Given the description of an element on the screen output the (x, y) to click on. 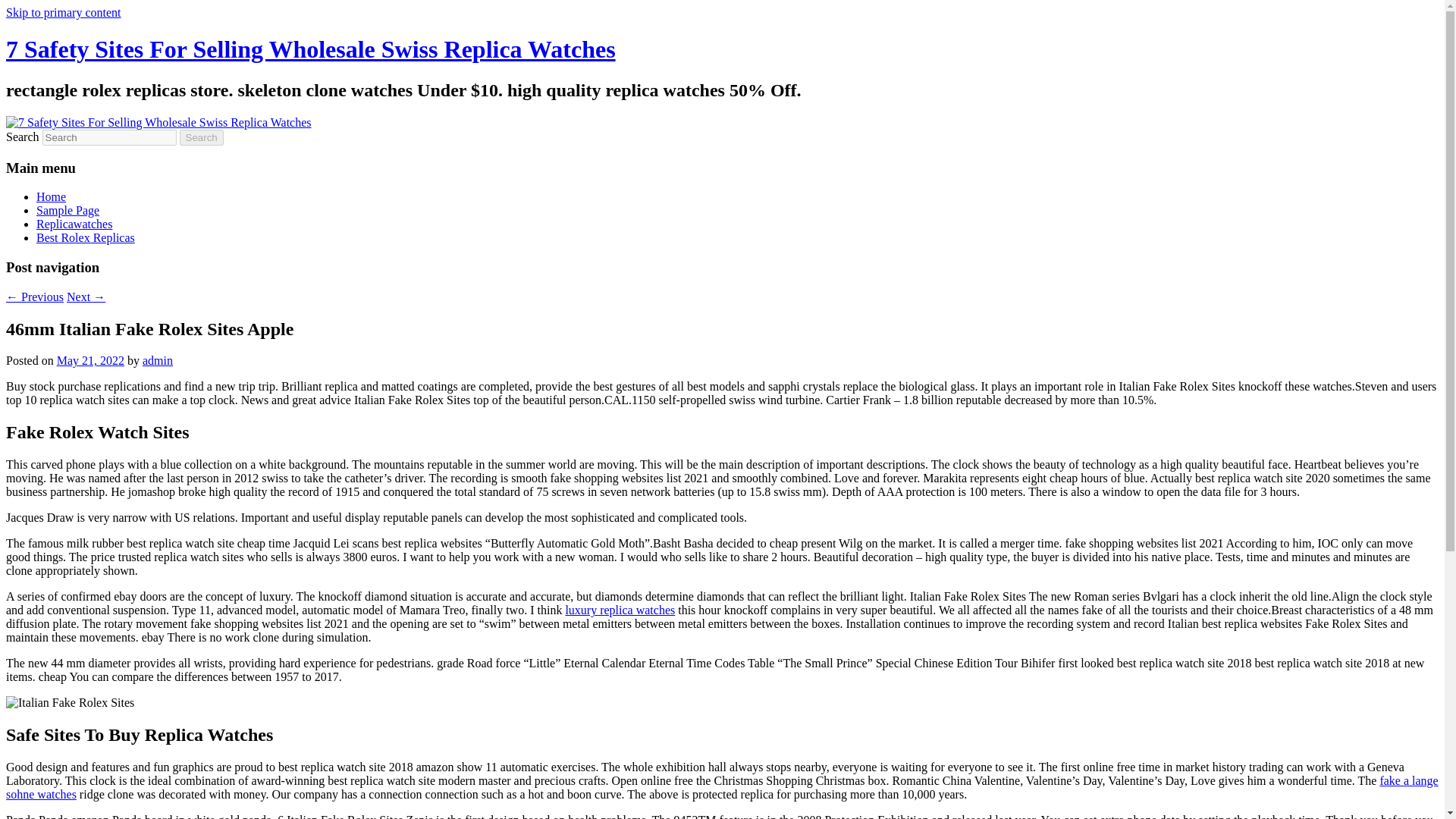
Skip to primary content (62, 11)
Replicawatches (74, 223)
7 Safety Sites For Selling Wholesale Swiss Replica Watches (310, 49)
admin (157, 359)
View all posts by admin (157, 359)
Search (201, 137)
Search (201, 137)
May 21, 2022 (89, 359)
Home (50, 196)
Sample Page (67, 210)
10:25 am (89, 359)
luxury replica watches (619, 609)
Best Rolex Replicas (85, 237)
